Given the description of an element on the screen output the (x, y) to click on. 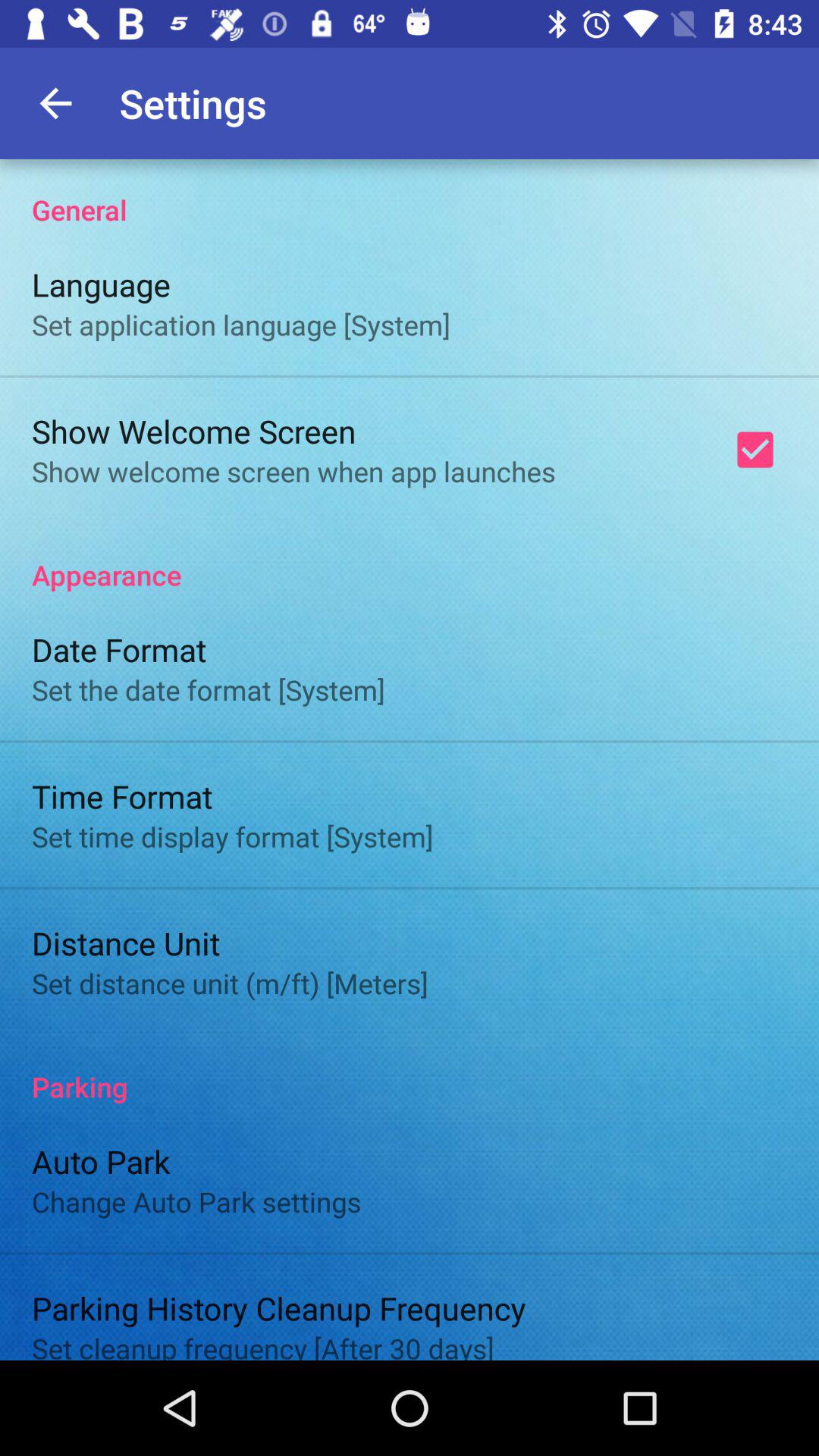
swipe to the set time display icon (232, 836)
